Given the description of an element on the screen output the (x, y) to click on. 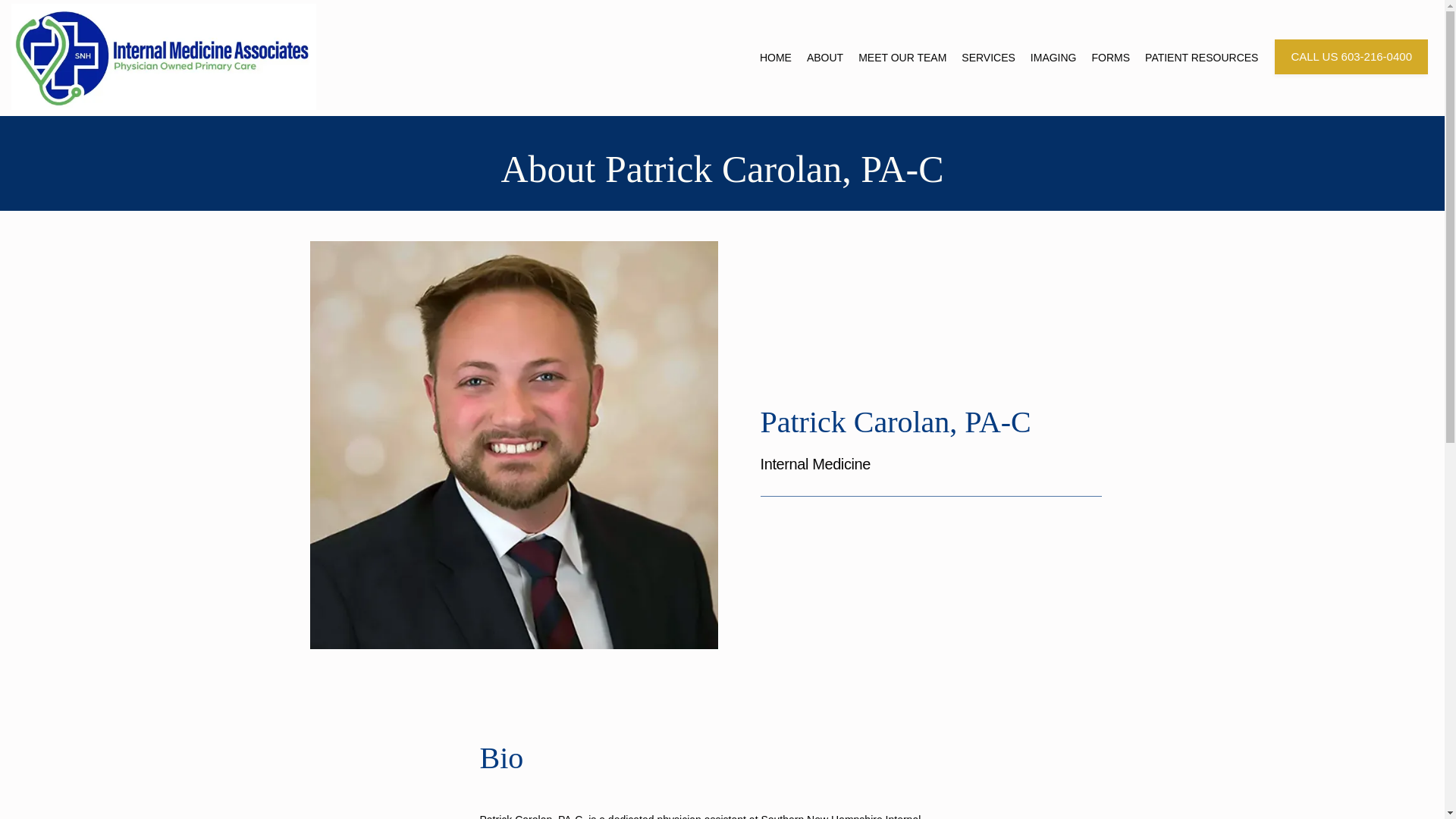
MEET OUR TEAM (902, 57)
SERVICES (987, 57)
HOME (776, 57)
ABOUT (824, 57)
